Given the description of an element on the screen output the (x, y) to click on. 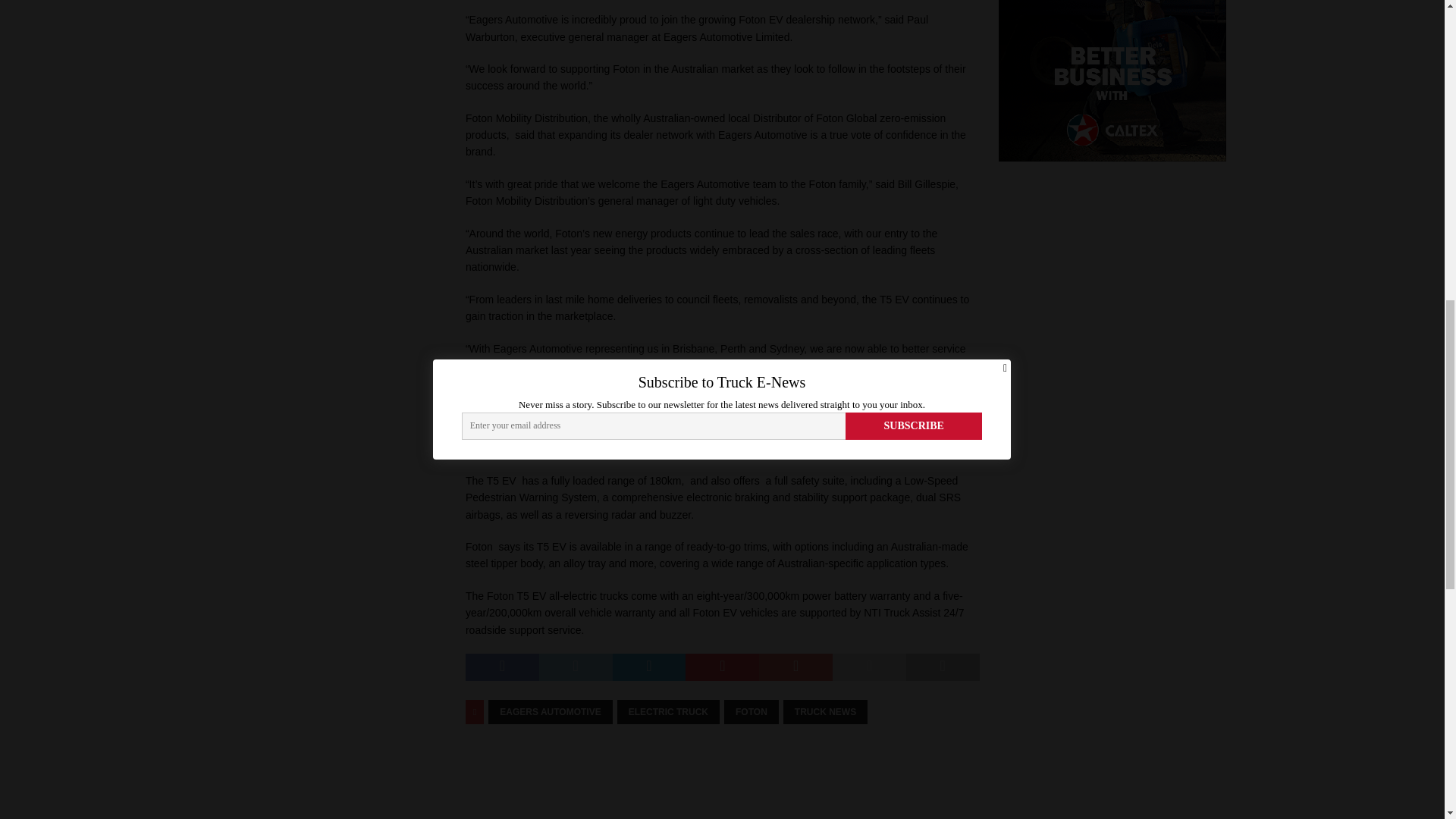
EAGERS AUTOMOTIVE (549, 711)
ELECTRIC TRUCK (668, 711)
FOTON (750, 711)
